Given the description of an element on the screen output the (x, y) to click on. 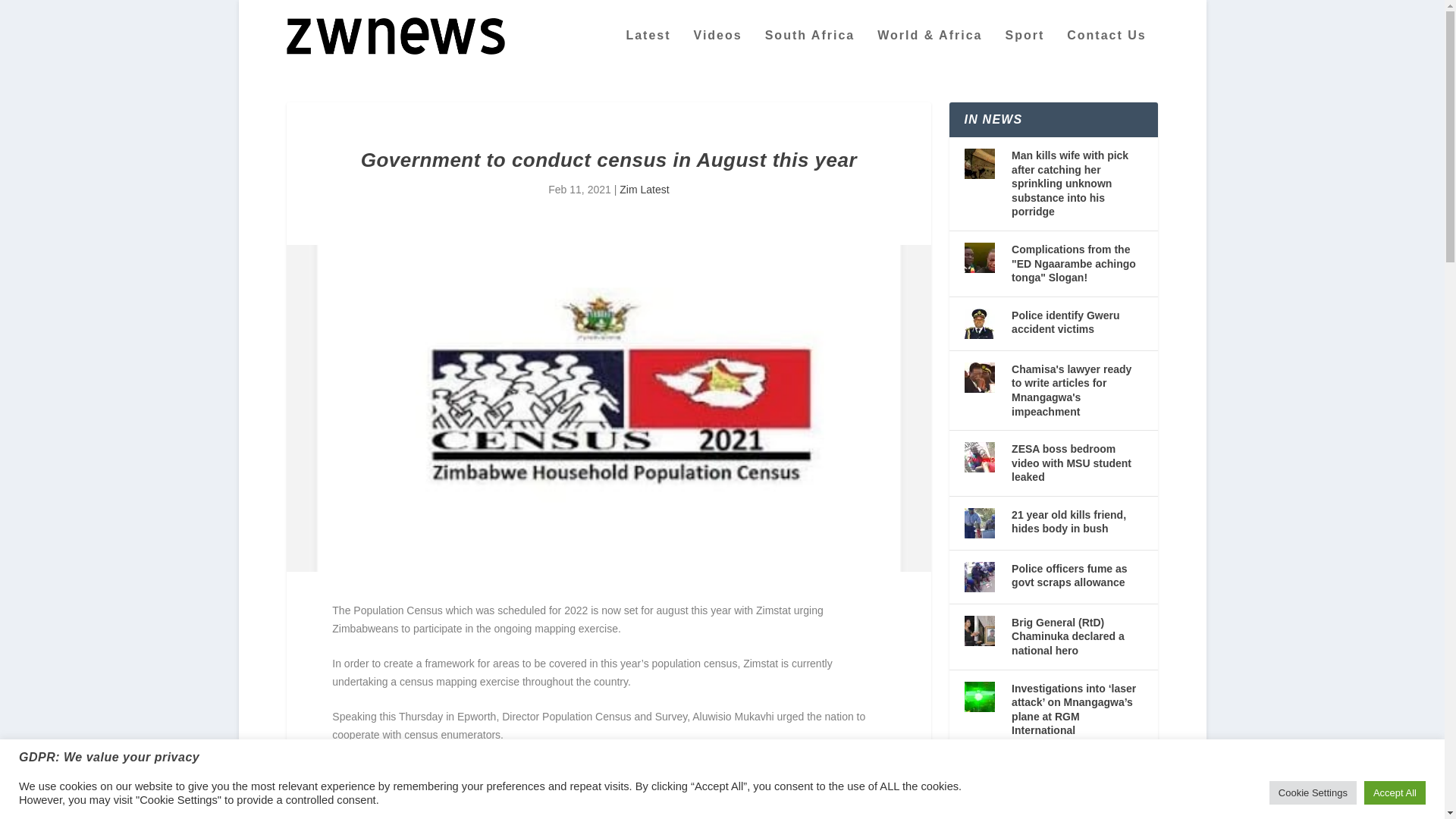
Latest (647, 50)
Zim Latest (644, 189)
South Africa (810, 50)
Videos (718, 50)
